Given the description of an element on the screen output the (x, y) to click on. 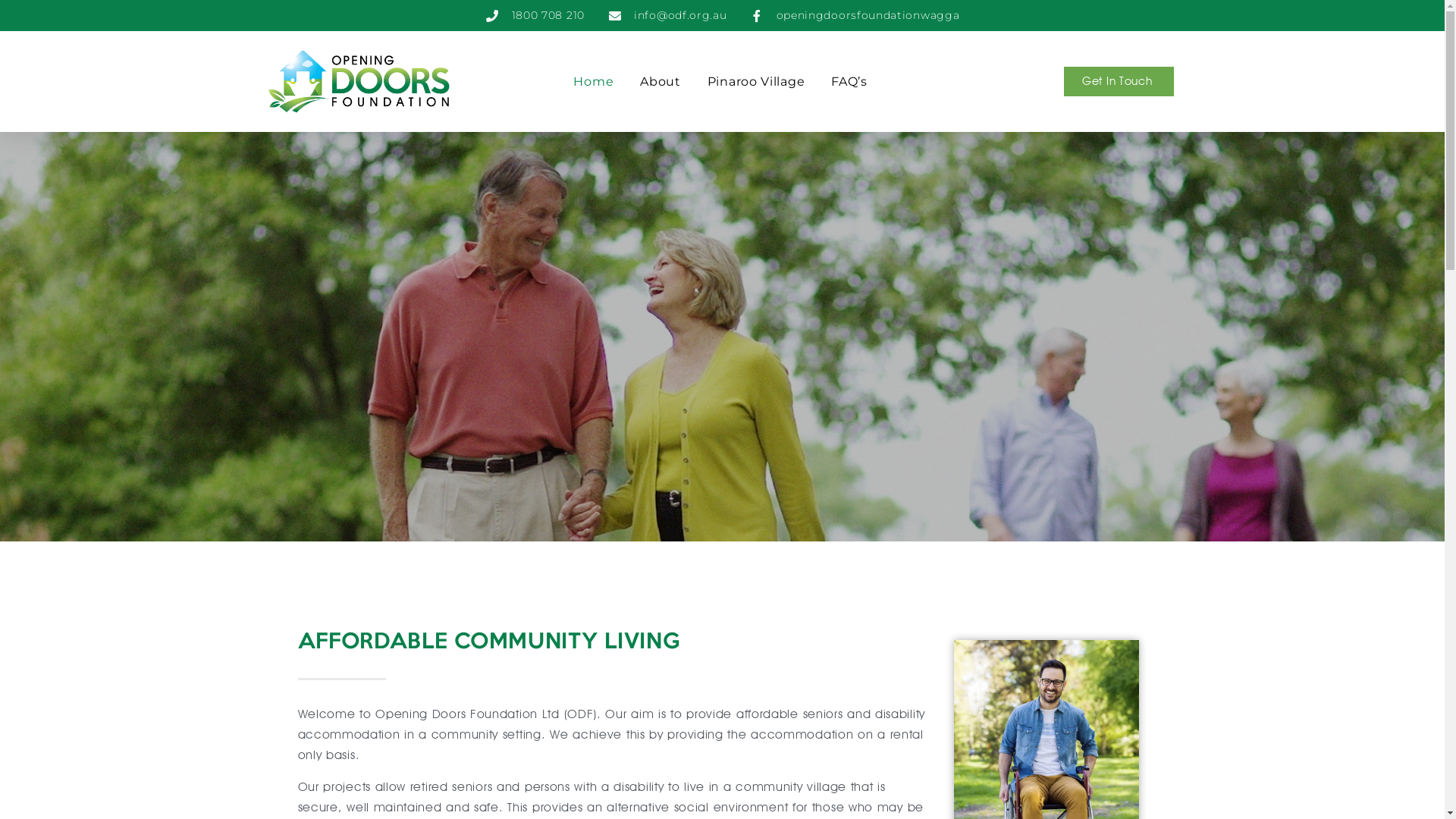
Get In Touch Element type: text (1118, 81)
Pinaroo Village Element type: text (756, 81)
1800 708 210 Element type: text (534, 15)
Home Element type: text (593, 81)
info@odf.org.au Element type: text (667, 15)
openingdoorsfoundationwagga Element type: text (854, 15)
About Element type: text (660, 81)
